Given the description of an element on the screen output the (x, y) to click on. 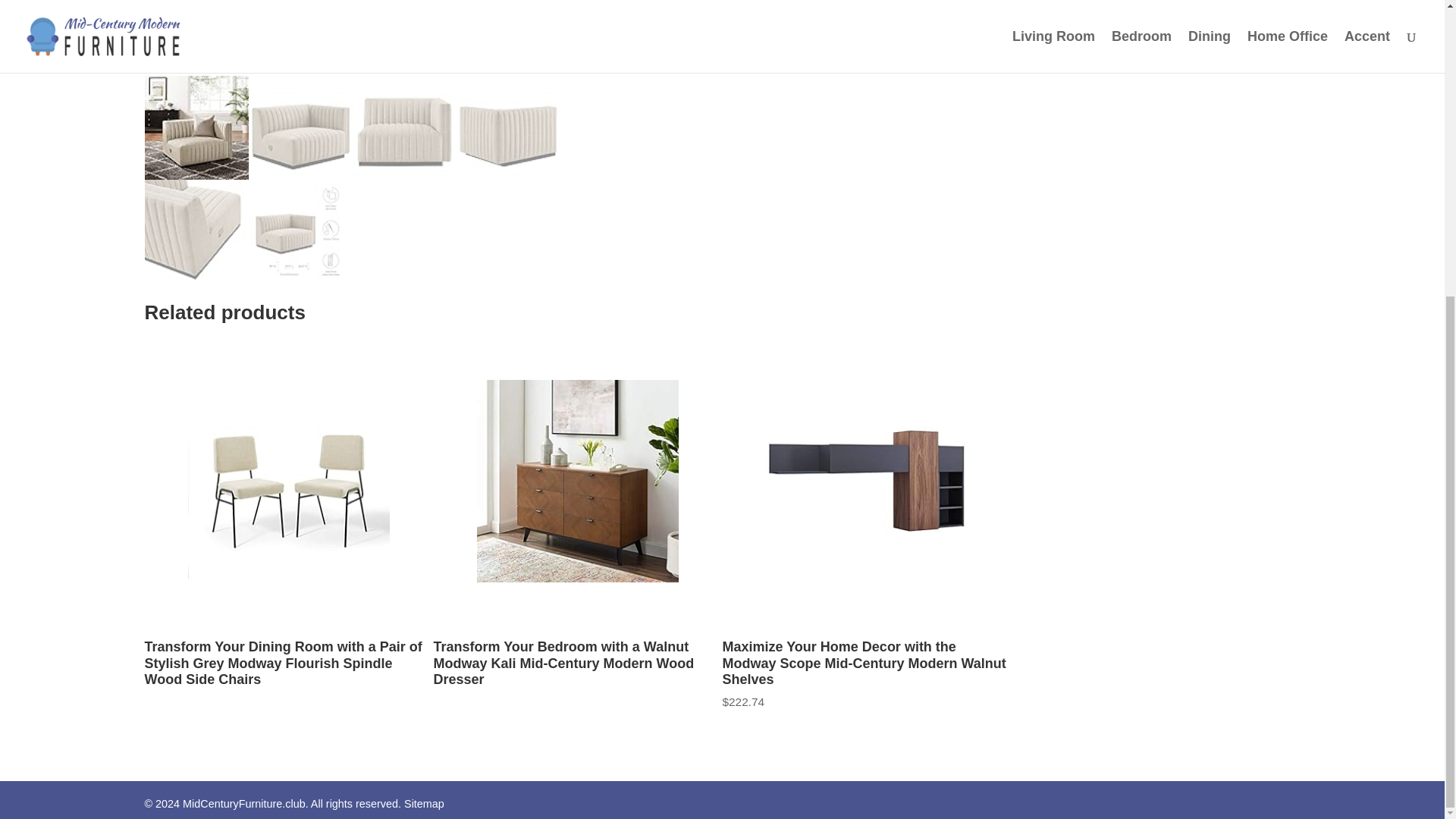
Buy on Amazon (656, 10)
